Given the description of an element on the screen output the (x, y) to click on. 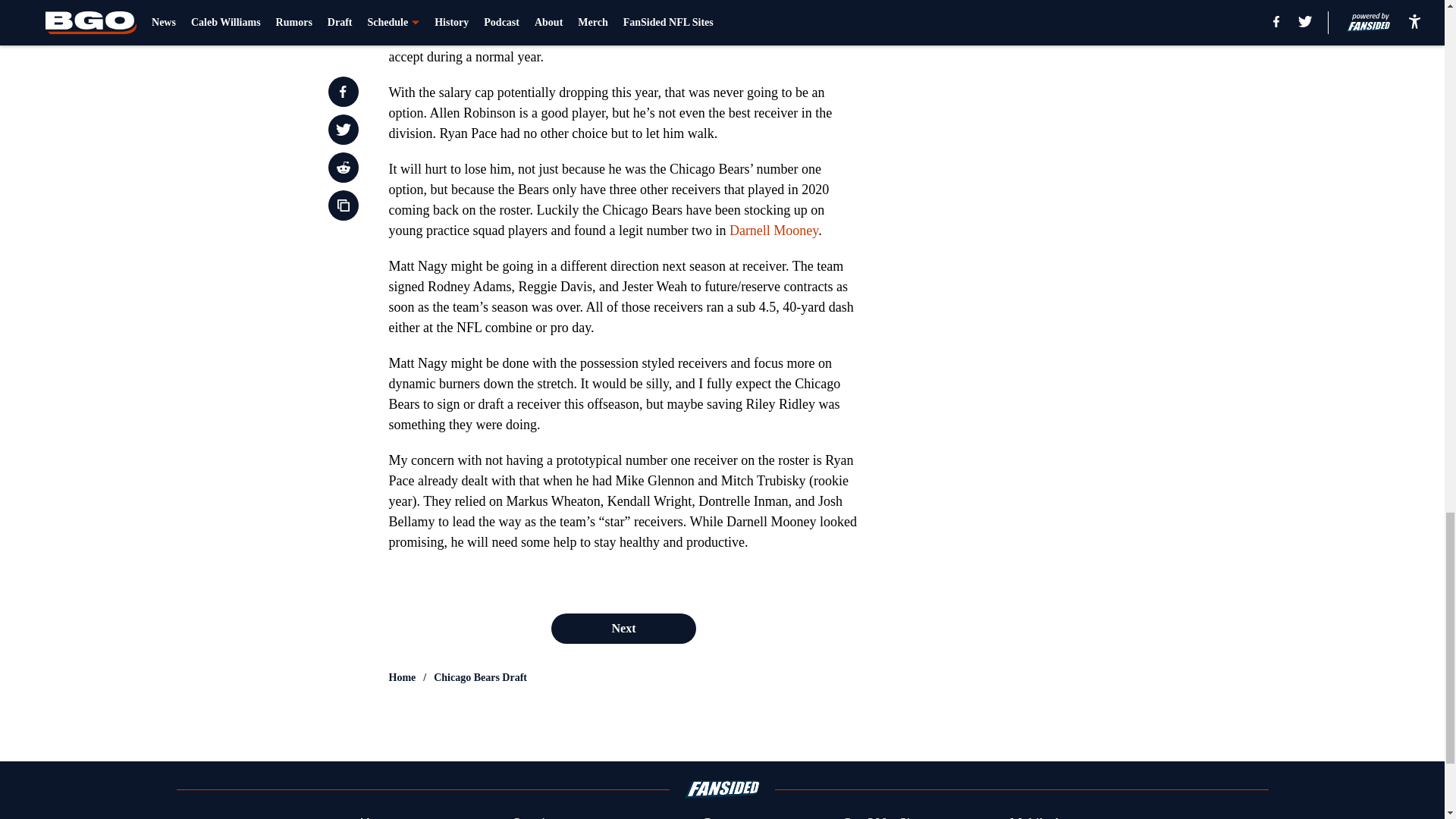
Home (401, 677)
Contact (722, 816)
Openings (538, 816)
Next (622, 628)
Darnell Mooney (773, 230)
Chicago Bears Draft (480, 677)
Mobile Apps (1045, 816)
About (373, 816)
